Given the description of an element on the screen output the (x, y) to click on. 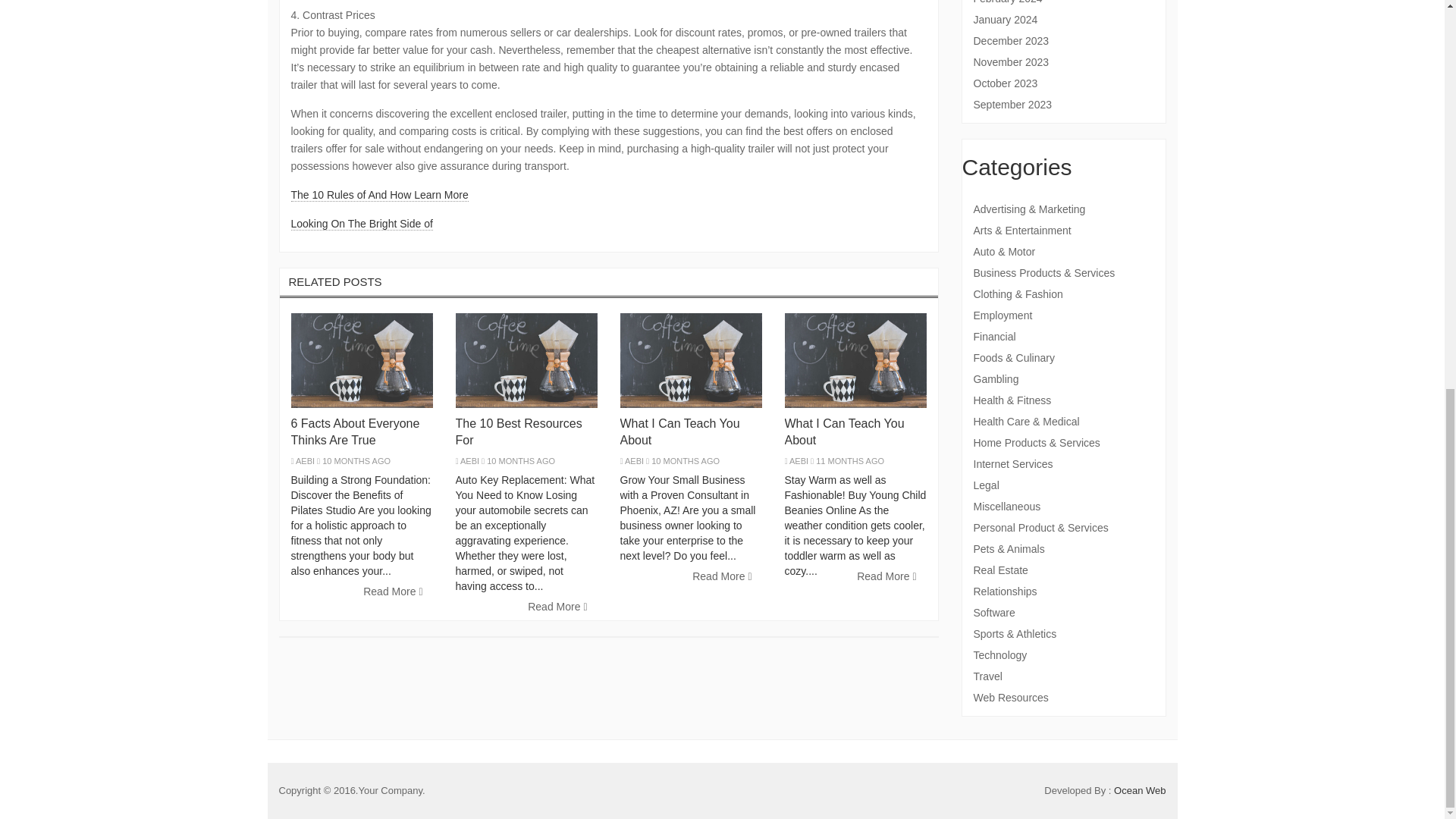
Read More (392, 592)
Read More (557, 606)
The 10 Rules of And How Learn More (379, 195)
What I Can Teach You About (844, 431)
6 Facts About Everyone Thinks Are True (355, 431)
Read More (721, 576)
What I Can Teach You About (679, 431)
The 10 Best Resources For (517, 431)
Looking On The Bright Side of (361, 223)
Read More (886, 576)
